Given the description of an element on the screen output the (x, y) to click on. 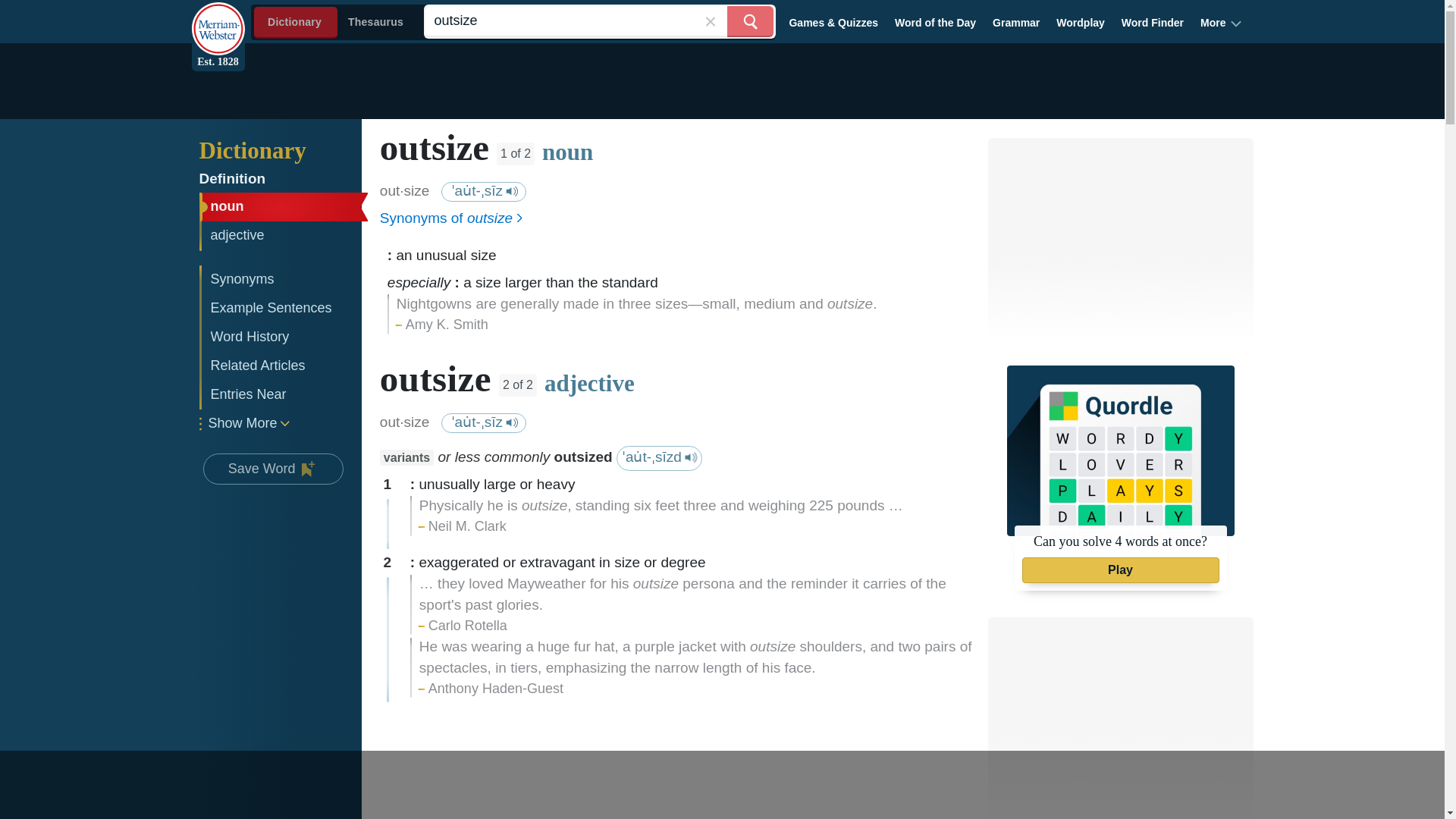
outsize (599, 20)
Wordplay (1080, 22)
Synonyms (280, 279)
Word Finder (1153, 22)
close (710, 20)
More (1220, 22)
adjective (280, 235)
Word History (280, 337)
outsize (599, 20)
noun (280, 206)
